Given the description of an element on the screen output the (x, y) to click on. 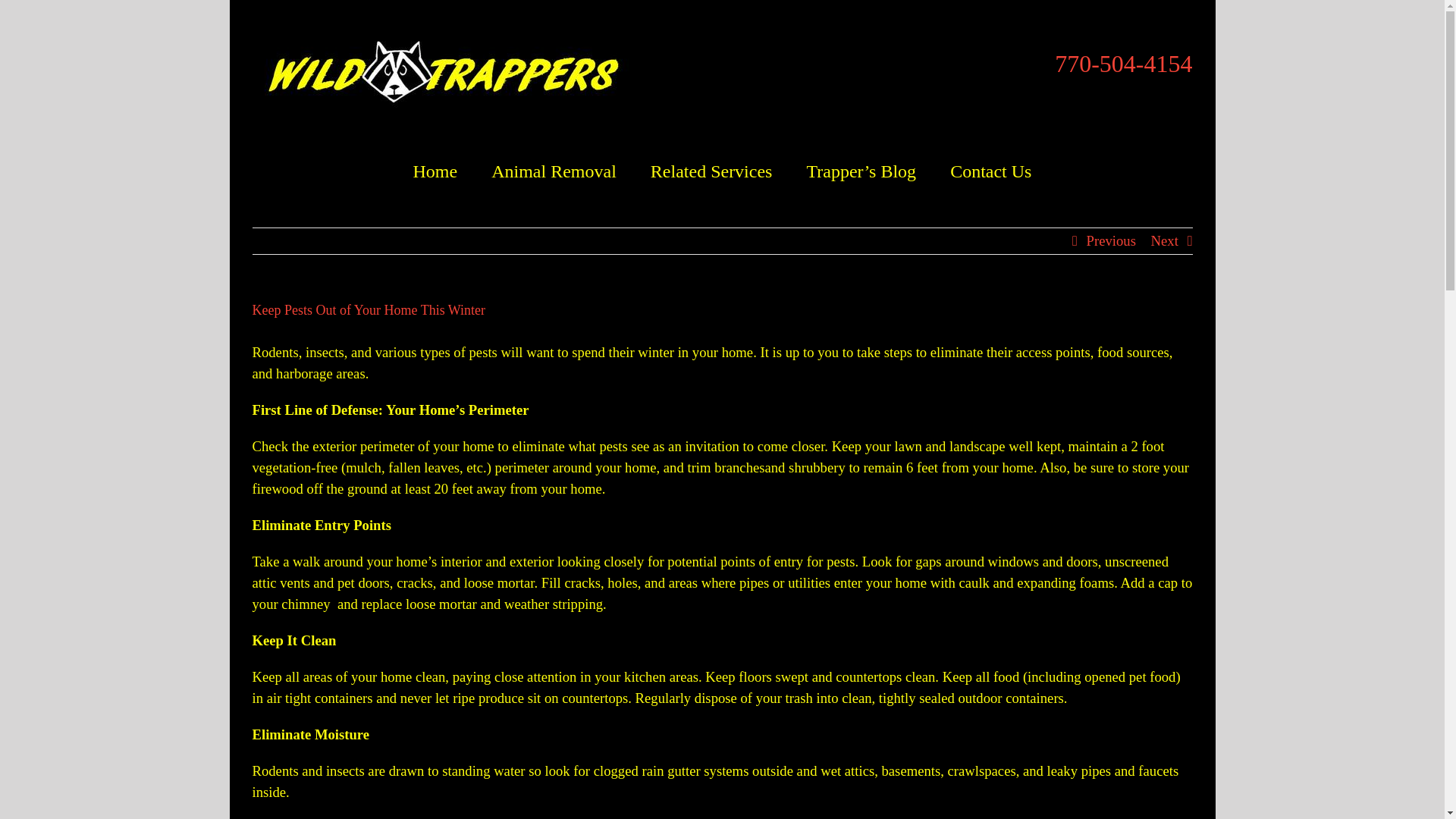
Next (1164, 240)
Contact Us (990, 169)
Animal Removal (553, 169)
Previous (1110, 240)
Related Services (711, 169)
Home (435, 169)
770-504-4154 (1123, 63)
